Given the description of an element on the screen output the (x, y) to click on. 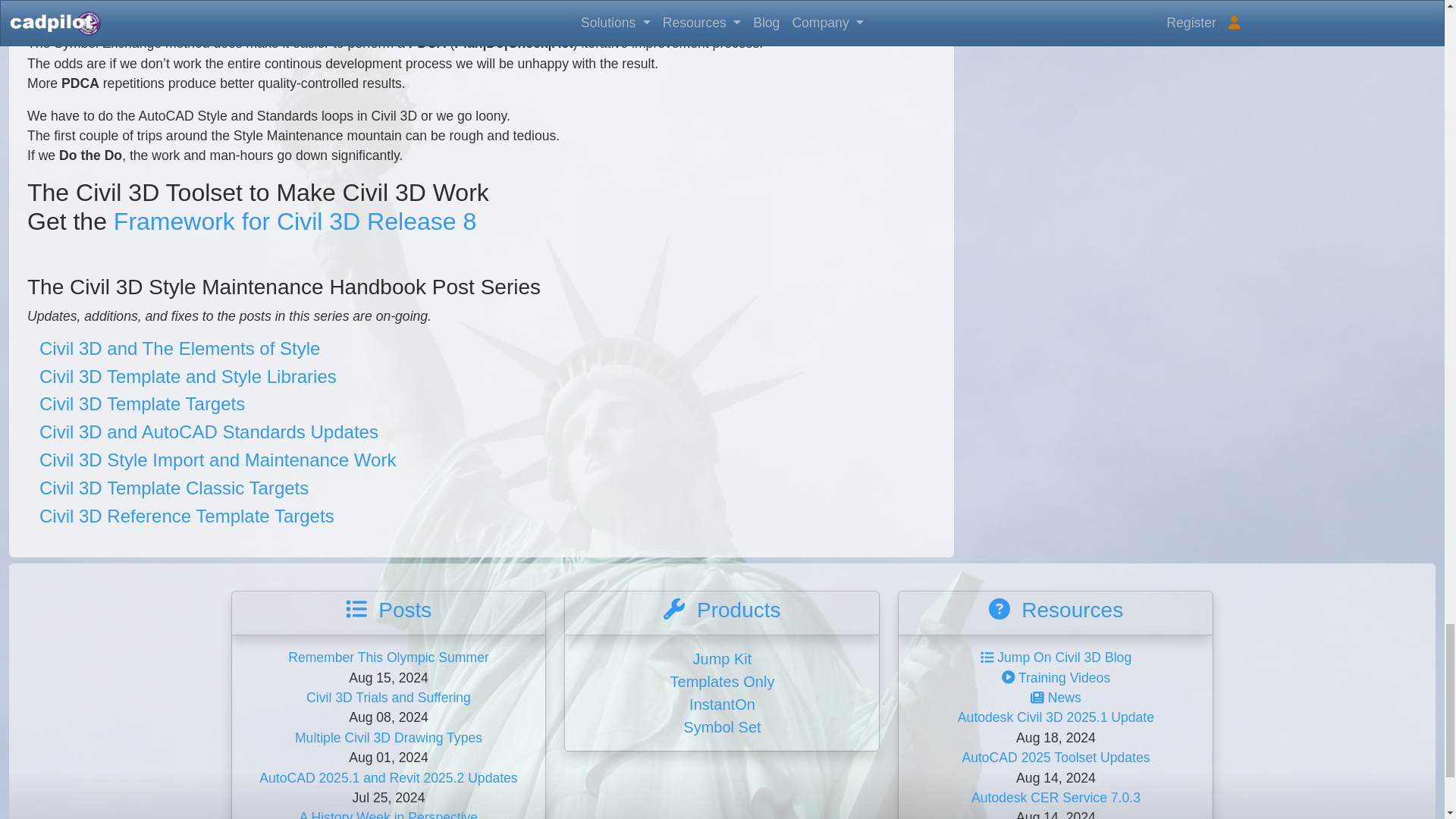
Civil 3D Template and Style Libraries (187, 376)
Get the Framework (294, 221)
Civil 3D Reference Template Targets (186, 516)
Civil 3D Template Targets (141, 403)
Civil 3D Template Classic Targets (173, 487)
Civil 3D Style Import and Maintenance Work (217, 459)
Civil 3D and AutoCAD Standards Updates (208, 431)
Civil 3D and The Elements of Style (179, 348)
